Given the description of an element on the screen output the (x, y) to click on. 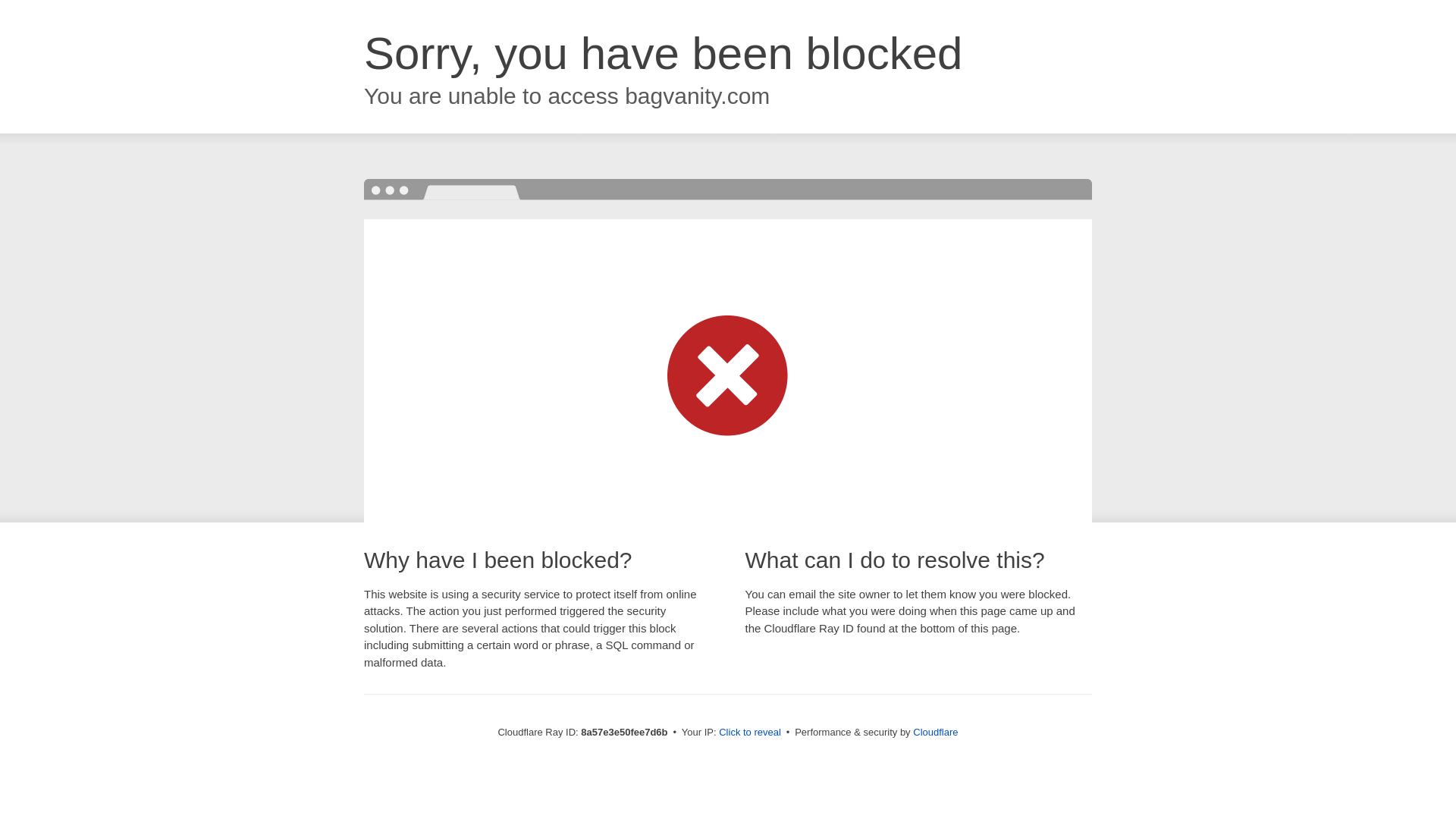
Click to reveal (749, 732)
Cloudflare (935, 731)
